Given the description of an element on the screen output the (x, y) to click on. 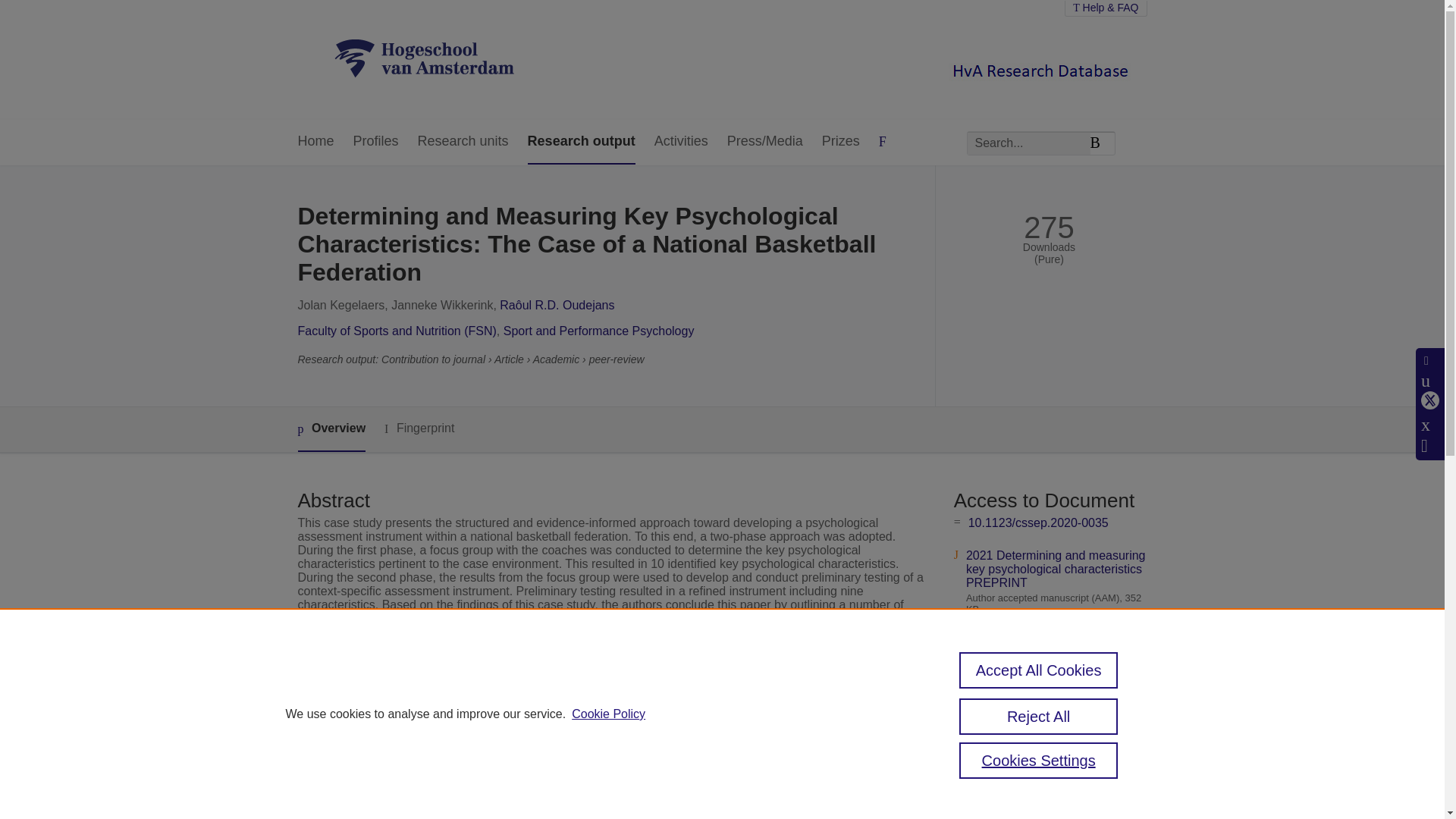
Activities (680, 141)
Research units (462, 141)
Sport and Performance Psychology (598, 330)
Persistent link (1005, 667)
Research output (580, 141)
Case Studies in Sport and Exercise Psychology (633, 705)
Overview (331, 429)
Fingerprint (419, 428)
HvA Research Database Home (424, 59)
Profiles (375, 141)
